Given the description of an element on the screen output the (x, y) to click on. 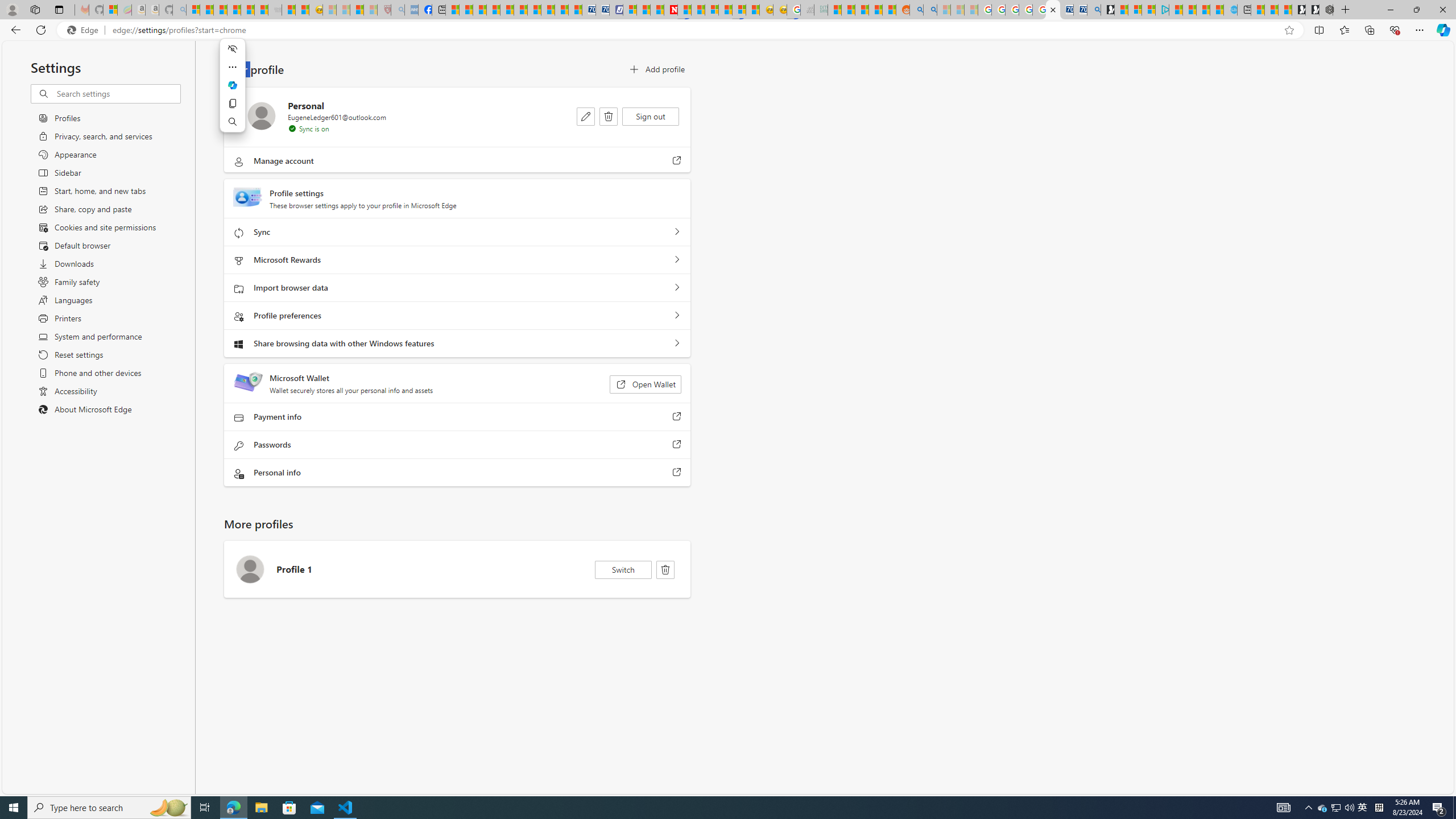
The Weather Channel - MSN (219, 9)
Import browser data (676, 287)
Newsweek - News, Analysis, Politics, Business, Technology (670, 9)
12 Popular Science Lies that Must be Corrected - Sleeping (369, 9)
World - MSN (479, 9)
Mini menu on text selection (232, 91)
Profile preferences (676, 315)
